Given the description of an element on the screen output the (x, y) to click on. 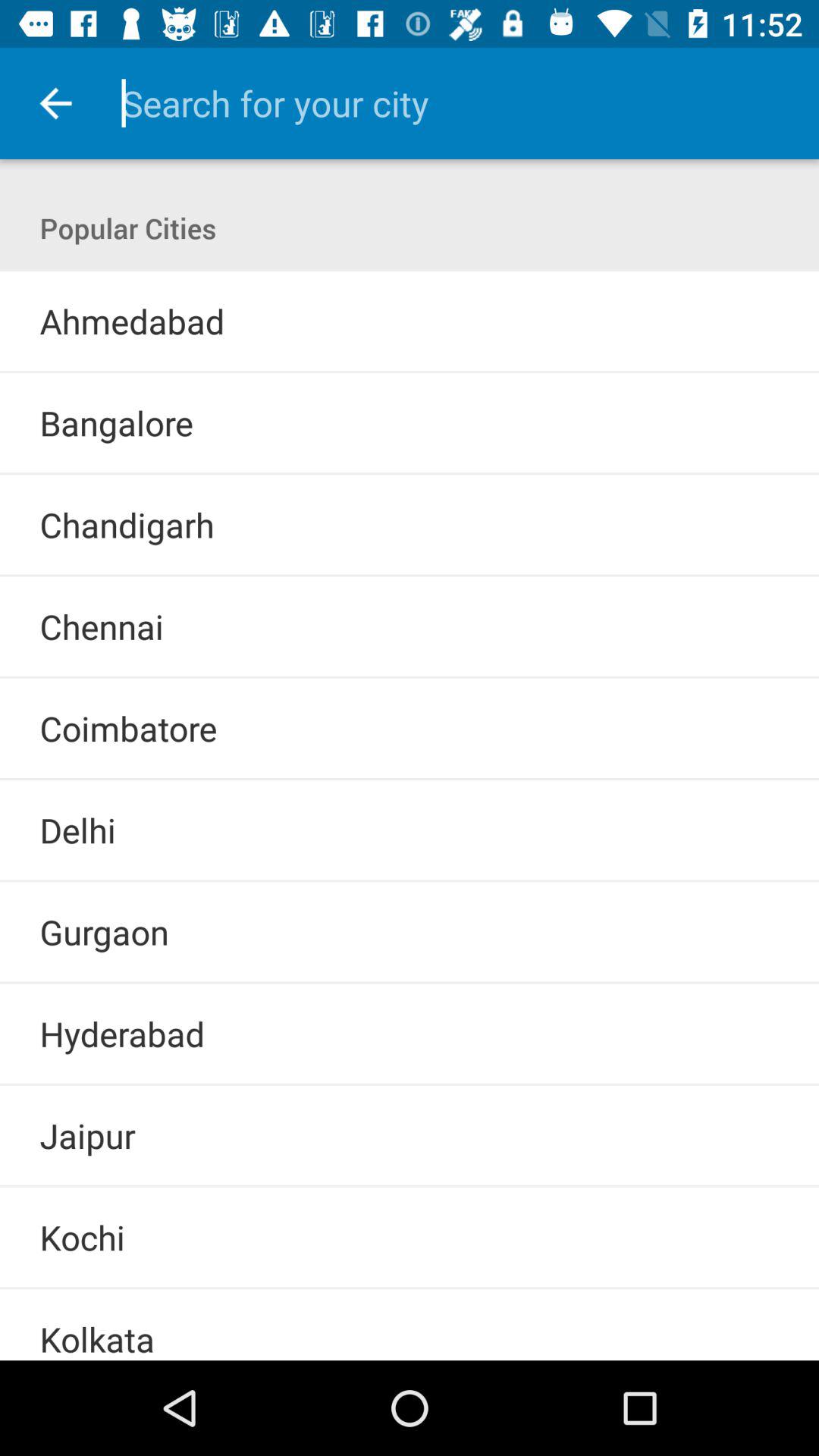
turn off the ahmedabad item (131, 321)
